Given the description of an element on the screen output the (x, y) to click on. 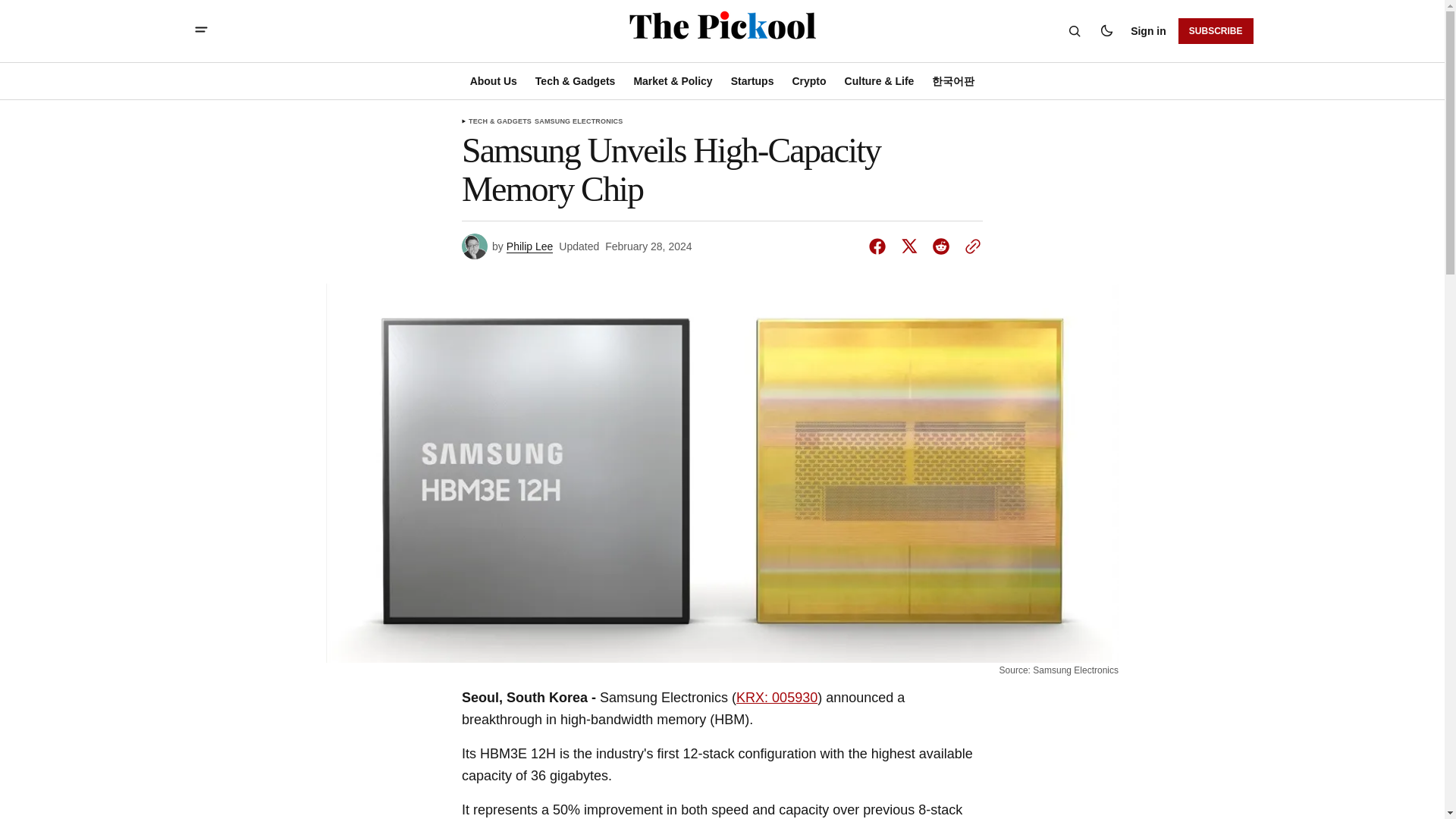
SAMSUNG ELECTRONICS (578, 121)
SUBSCRIBE (1215, 31)
About Us (497, 81)
KRX: 005930 (776, 698)
Sign in (1147, 30)
Search button (1074, 30)
Startups (752, 81)
Crypto (808, 81)
Philip Lee (529, 246)
